Given the description of an element on the screen output the (x, y) to click on. 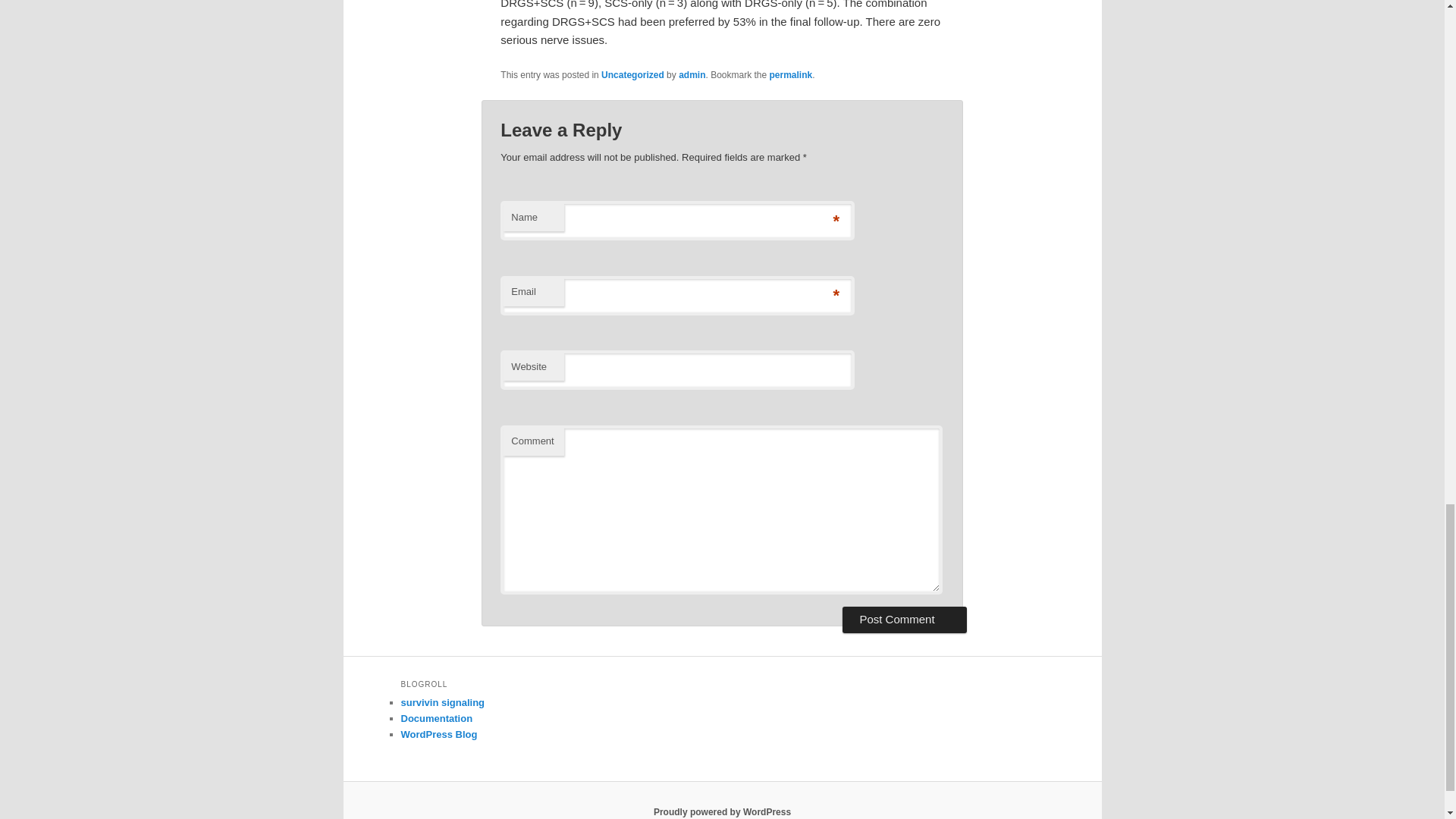
survivin signaling (442, 702)
Post Comment (904, 619)
View all posts in Uncategorized (632, 74)
Post Comment (904, 619)
Uncategorized (632, 74)
Semantic Personal Publishing Platform (721, 811)
Documentation (435, 717)
admin (691, 74)
WordPress Blog (438, 734)
